Given the description of an element on the screen output the (x, y) to click on. 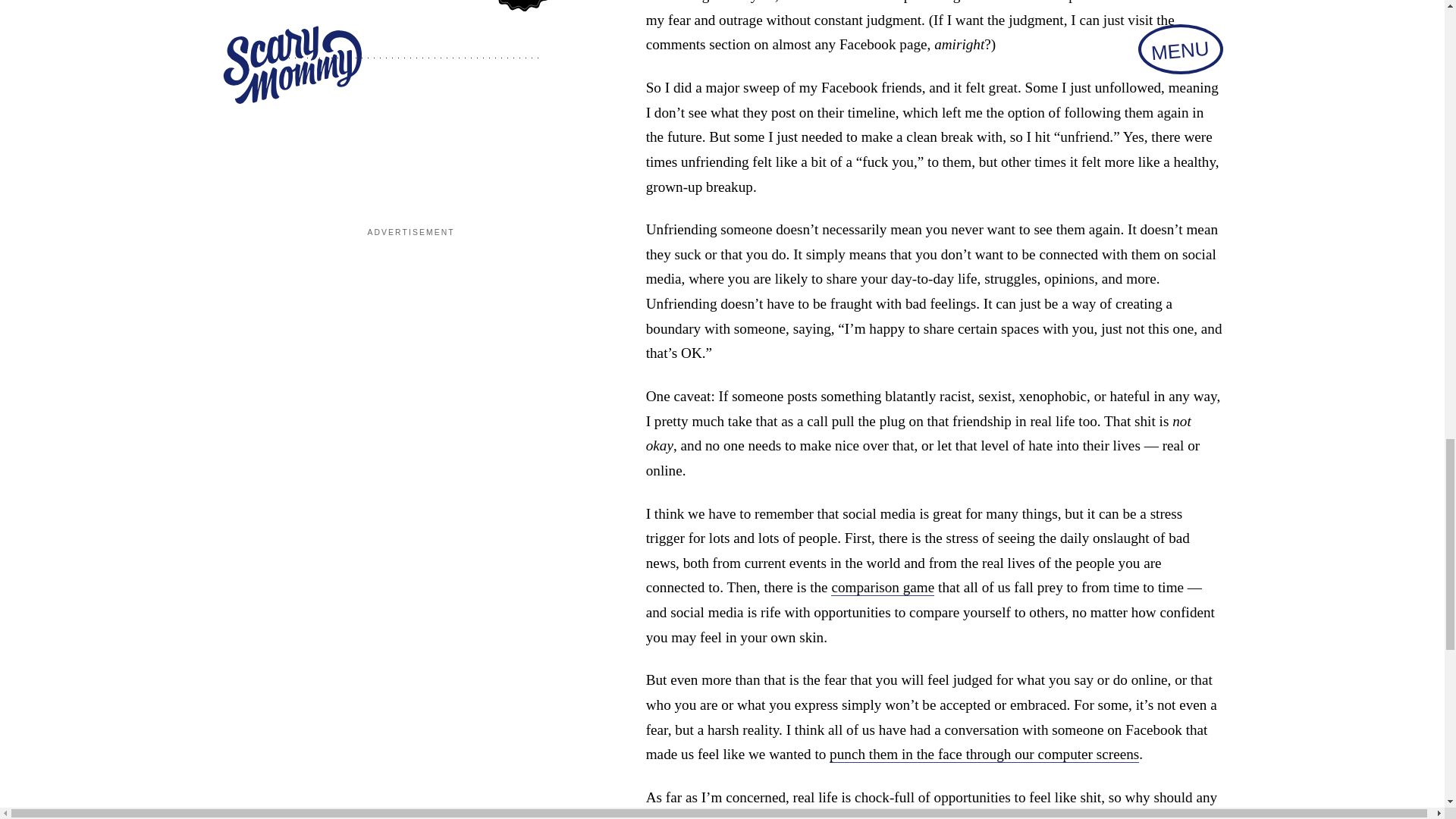
comparison game (882, 587)
punch them in the face through our computer screens (983, 754)
